Given the description of an element on the screen output the (x, y) to click on. 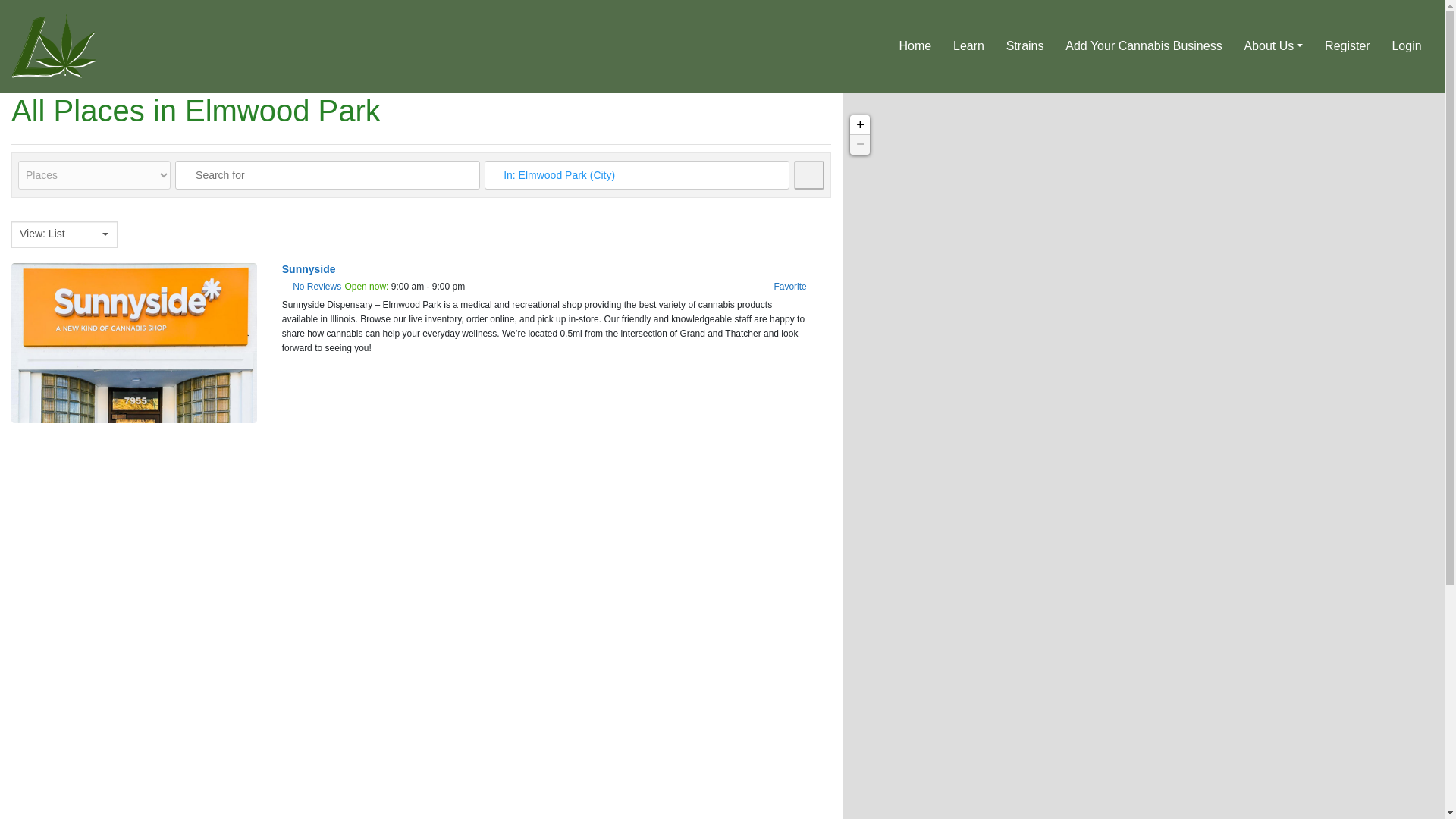
Lazarat (53, 44)
Login (1406, 45)
Zoom in (859, 125)
Learn (968, 45)
About Us (1273, 45)
Search (808, 174)
Sunnyside (309, 268)
Expand opening hours (432, 286)
Register (1347, 45)
No Reviews (316, 286)
View: Sunnyside (309, 268)
Zoom out (859, 144)
Add to Favorites (788, 286)
Home (915, 45)
View: List (59, 233)
